Given the description of an element on the screen output the (x, y) to click on. 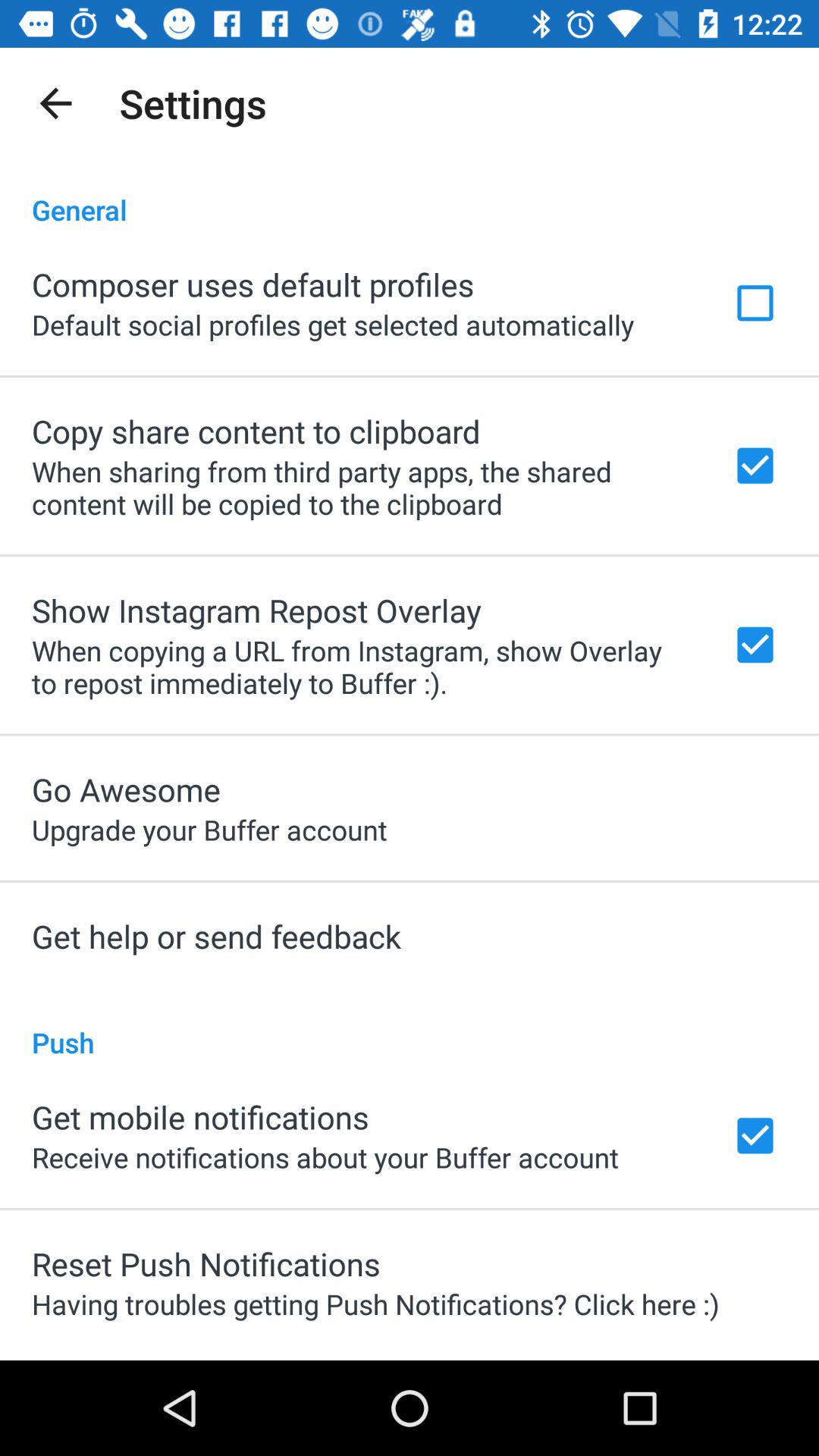
turn off the item above the go awesome (361, 666)
